Given the description of an element on the screen output the (x, y) to click on. 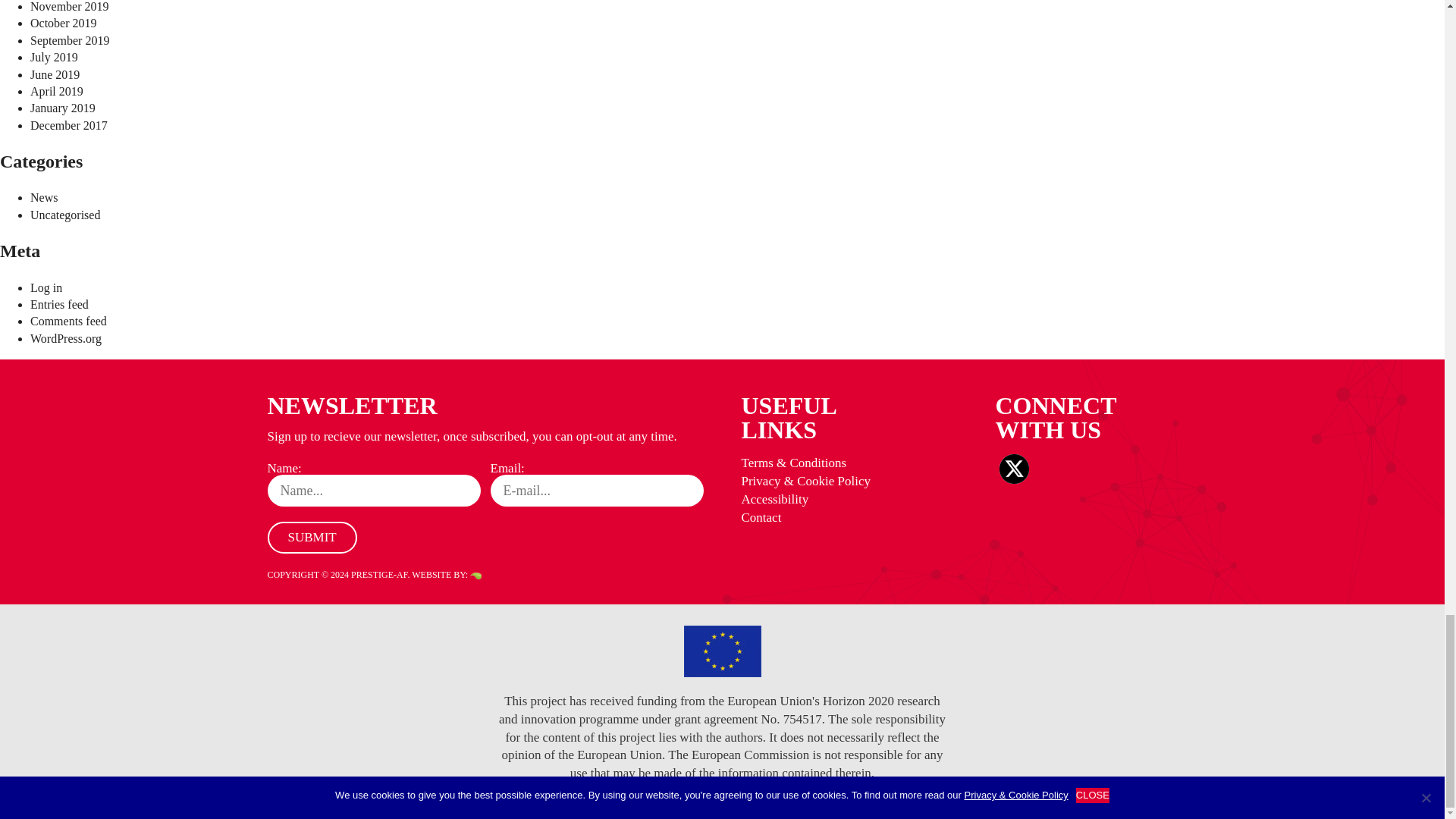
November 2019 (69, 6)
greensplash (475, 575)
eu (722, 651)
twitter (1013, 469)
Submit (311, 537)
